Given the description of an element on the screen output the (x, y) to click on. 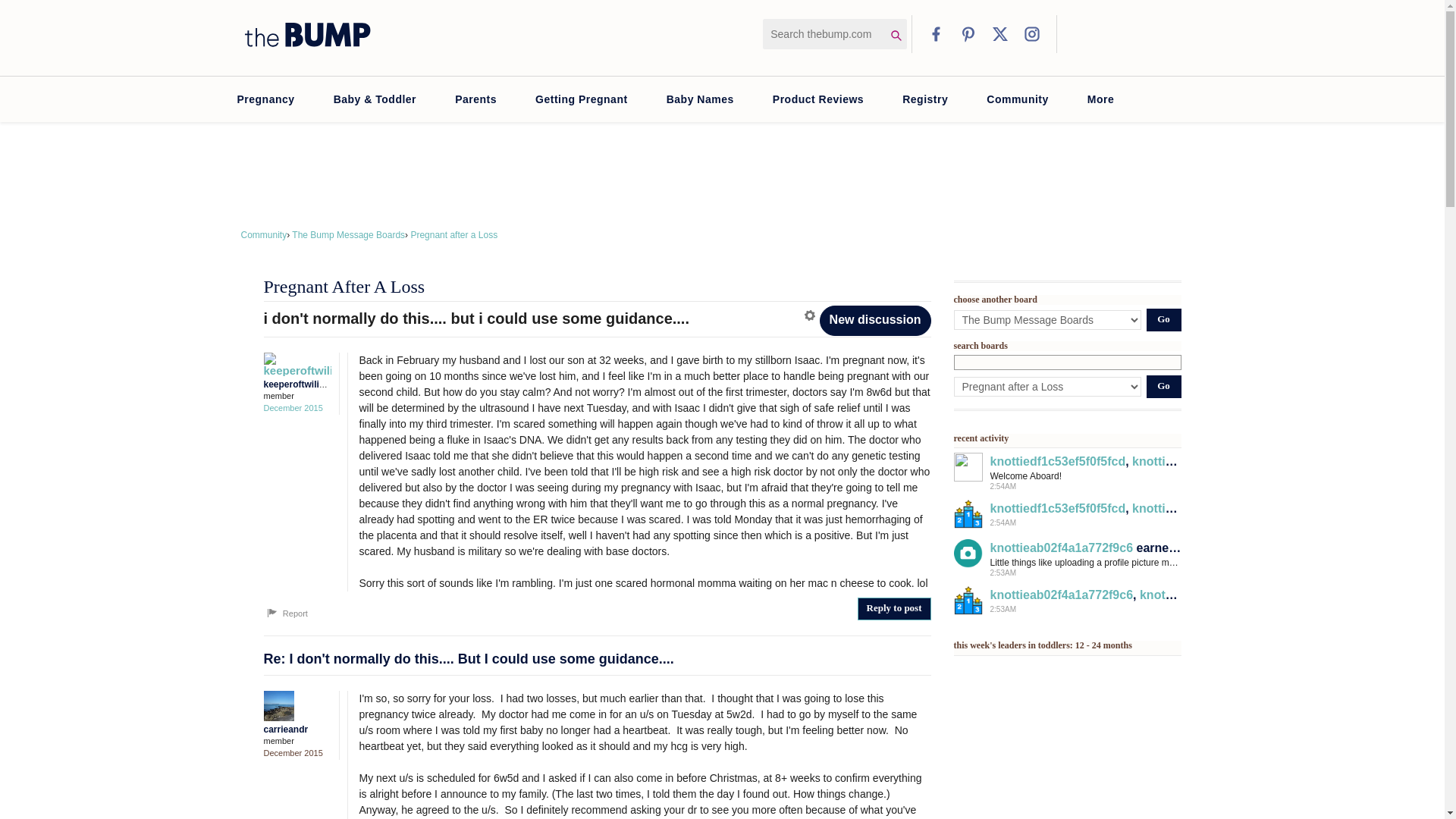
December 4, 2015 5:55PM (293, 752)
Pregnancy (264, 99)
keeperoftwilight (293, 363)
Options (811, 315)
December 4, 2015 5:41PM (293, 407)
member (297, 740)
Go (1163, 319)
Report (285, 612)
Go (1163, 386)
carrieandr (293, 706)
member (297, 395)
